Given the description of an element on the screen output the (x, y) to click on. 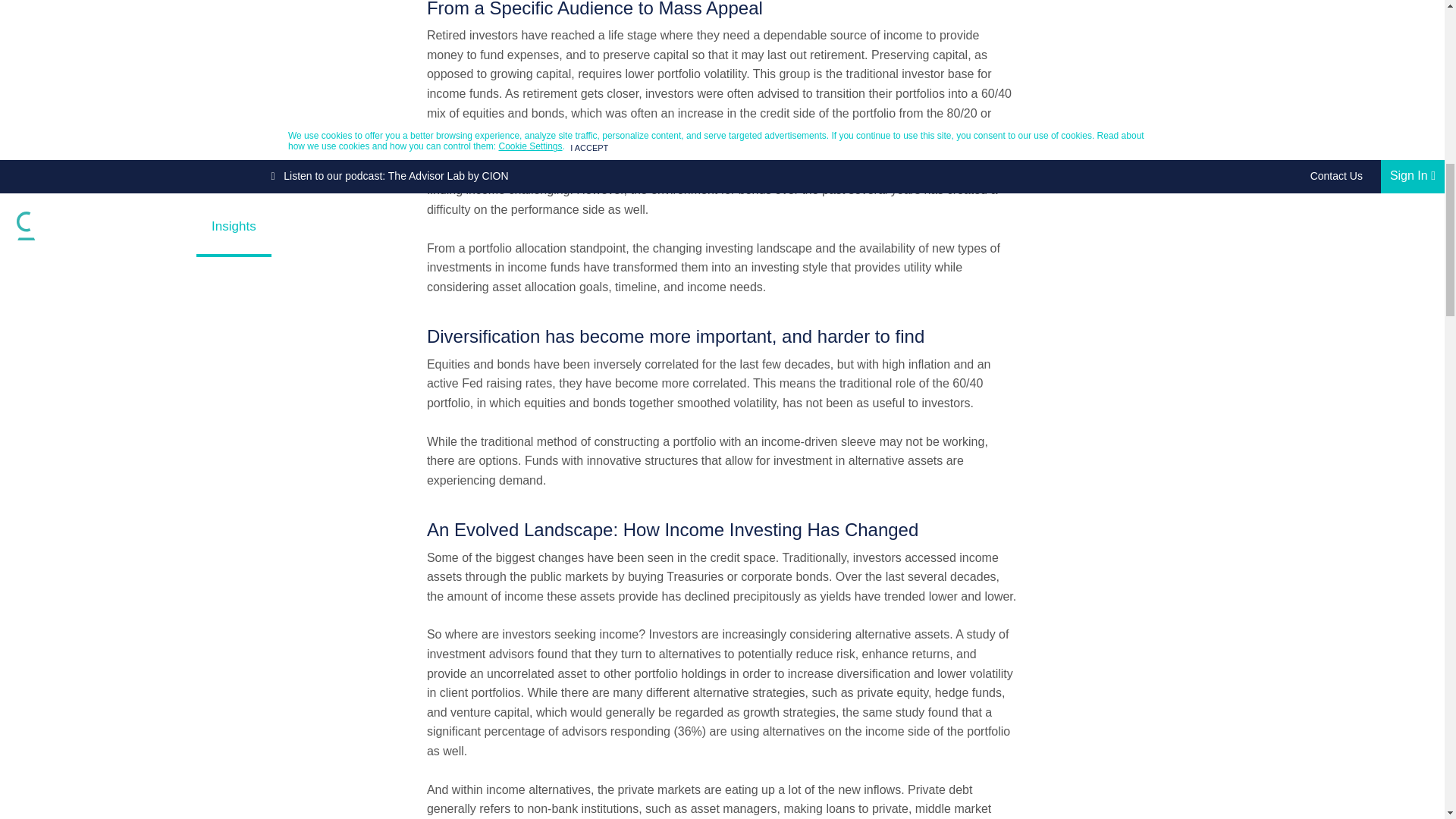
Page 1 (721, 461)
Page 1 (721, 383)
Page 1 (721, 83)
Page 1 (721, 268)
Page 2 (721, 692)
Page 1 (721, 190)
Page 2 (721, 576)
Page 2 (721, 799)
